Given the description of an element on the screen output the (x, y) to click on. 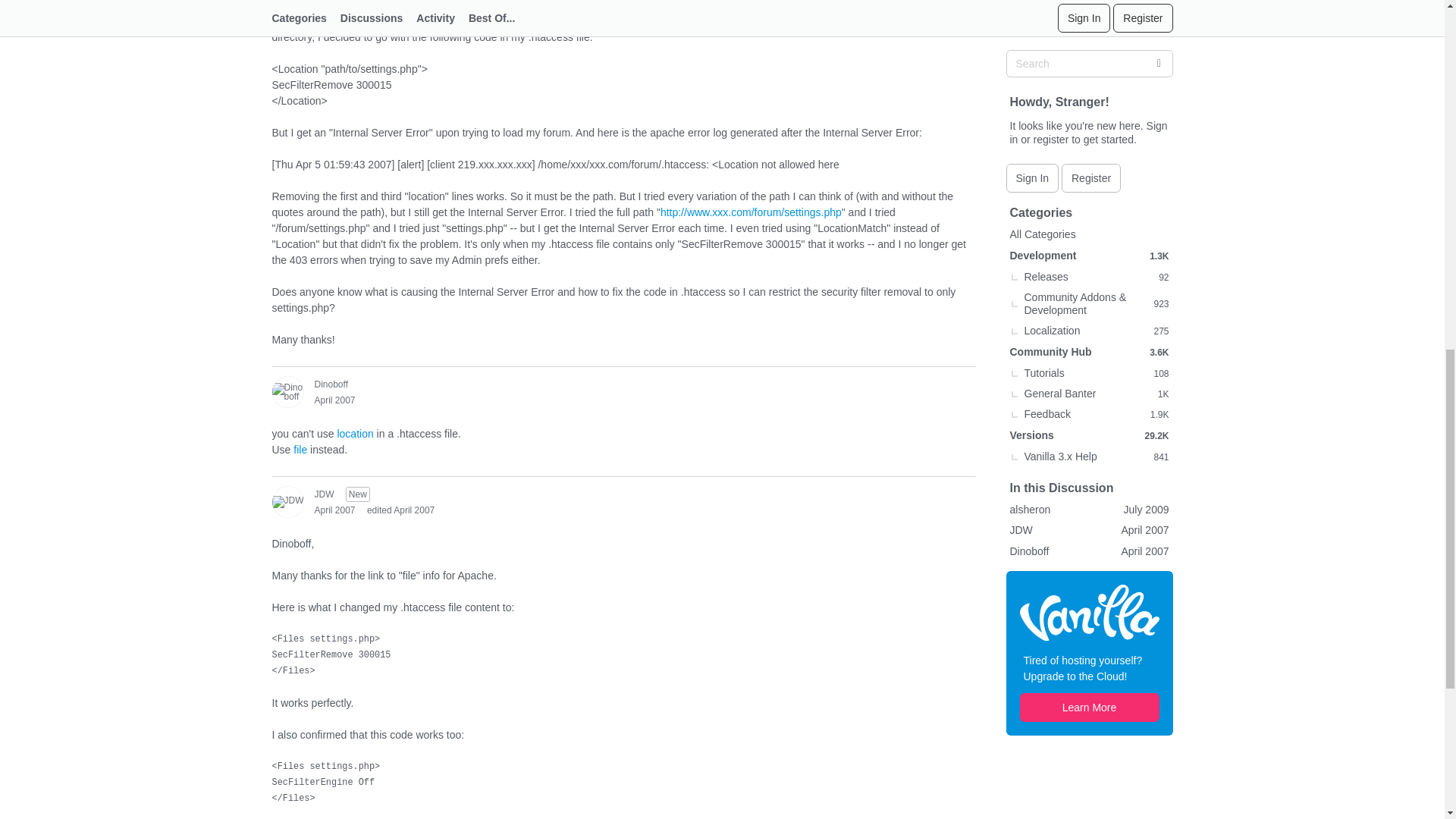
April 5, 2007 7:35PM (334, 510)
New (357, 494)
Edited April 10, 2007 11:41PM by JDW. (399, 510)
April 2007 (334, 399)
April 5, 2007 5:39AM (334, 399)
Dinoboff (286, 391)
file (300, 449)
JDW (286, 501)
Dinoboff (330, 384)
location (354, 433)
